Given the description of an element on the screen output the (x, y) to click on. 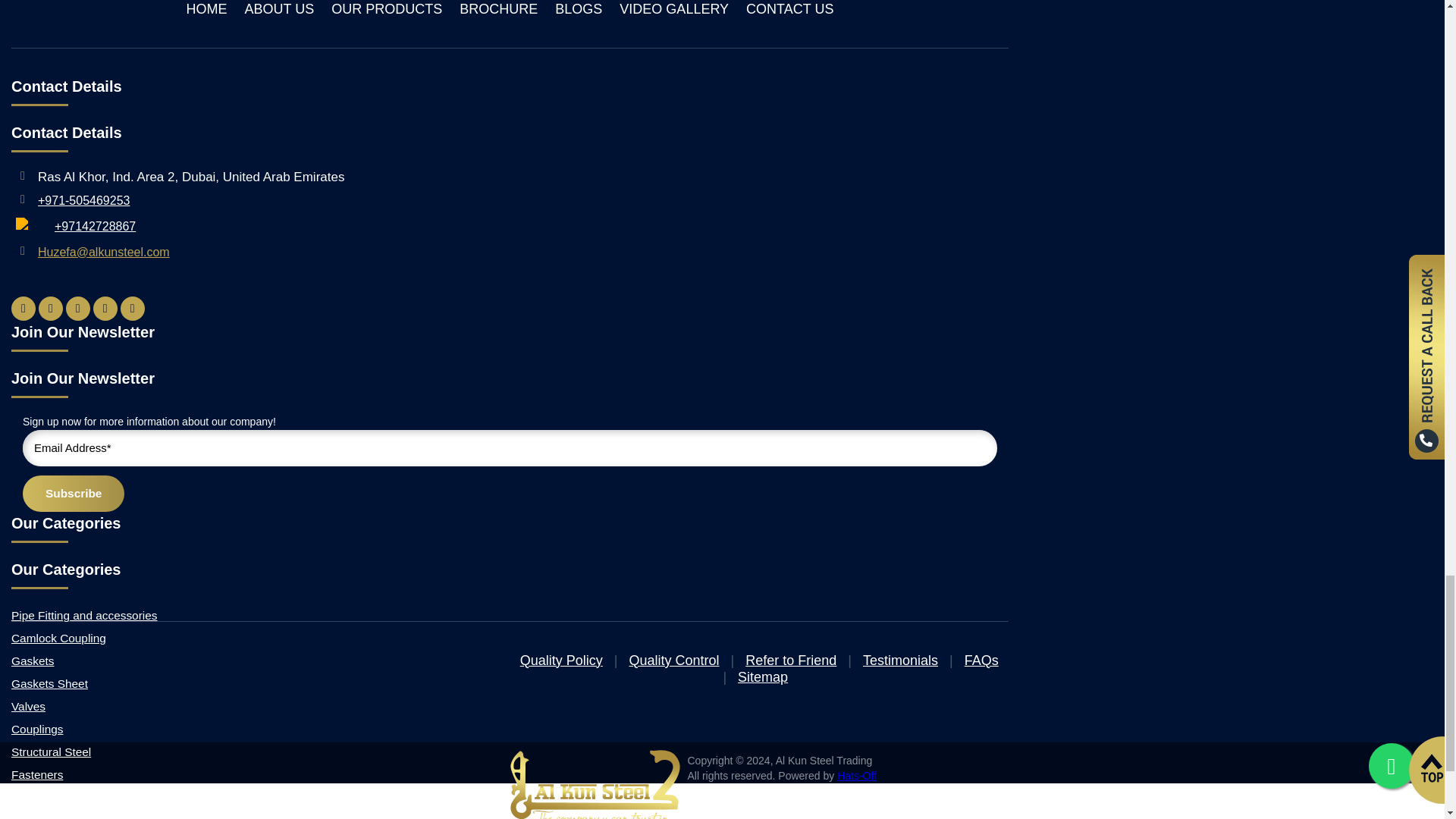
BROCHURE (498, 8)
HOME (206, 8)
VIDEO GALLERY (674, 8)
Subscribe (73, 493)
ABOUT US (279, 8)
OUR PRODUCTS (386, 8)
CONTACT US (788, 8)
BLOGS (578, 8)
